Given the description of an element on the screen output the (x, y) to click on. 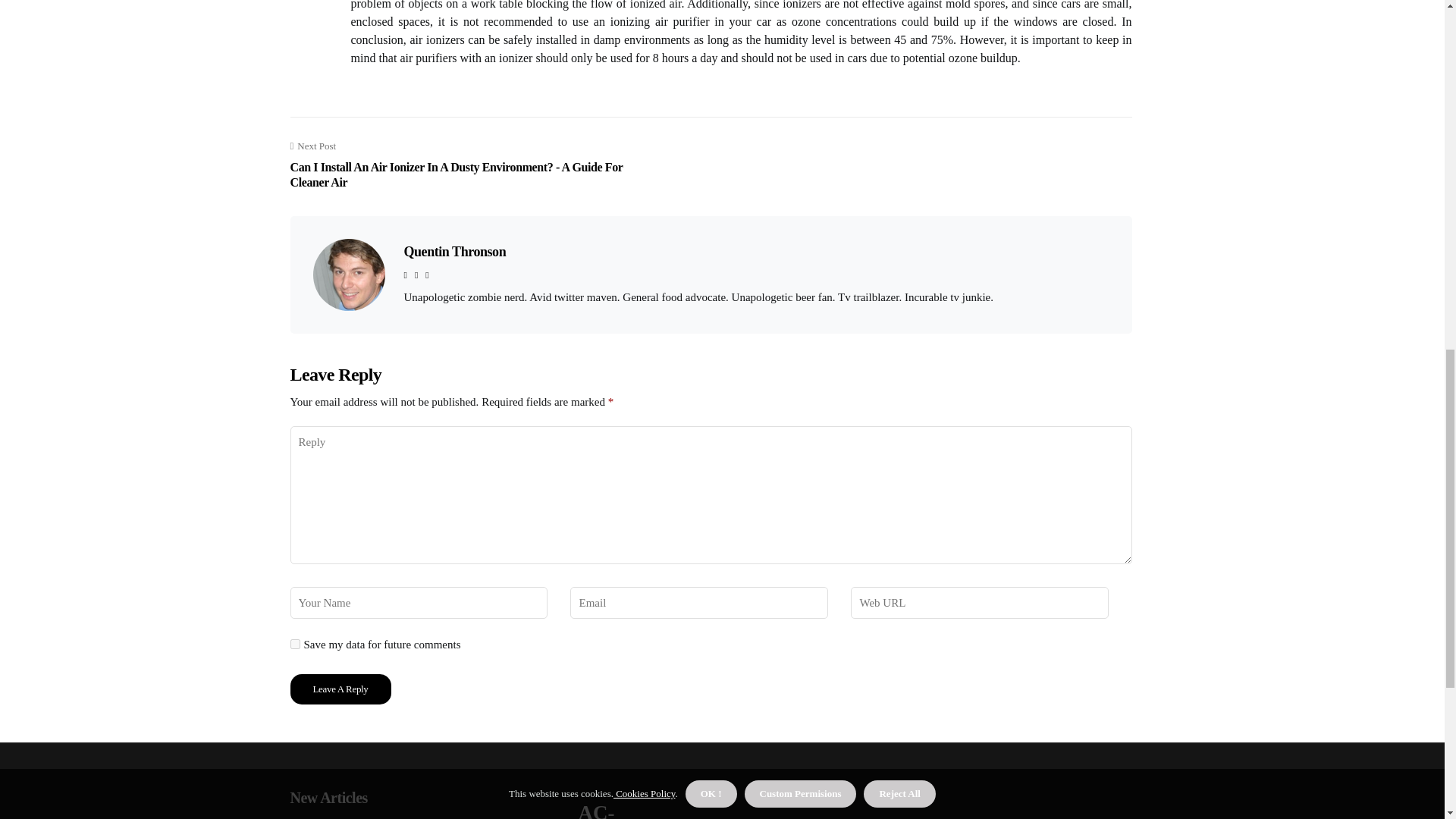
Leave a Reply (339, 689)
yes (294, 644)
Quentin Thronson (454, 251)
Leave a Reply (339, 689)
